Given the description of an element on the screen output the (x, y) to click on. 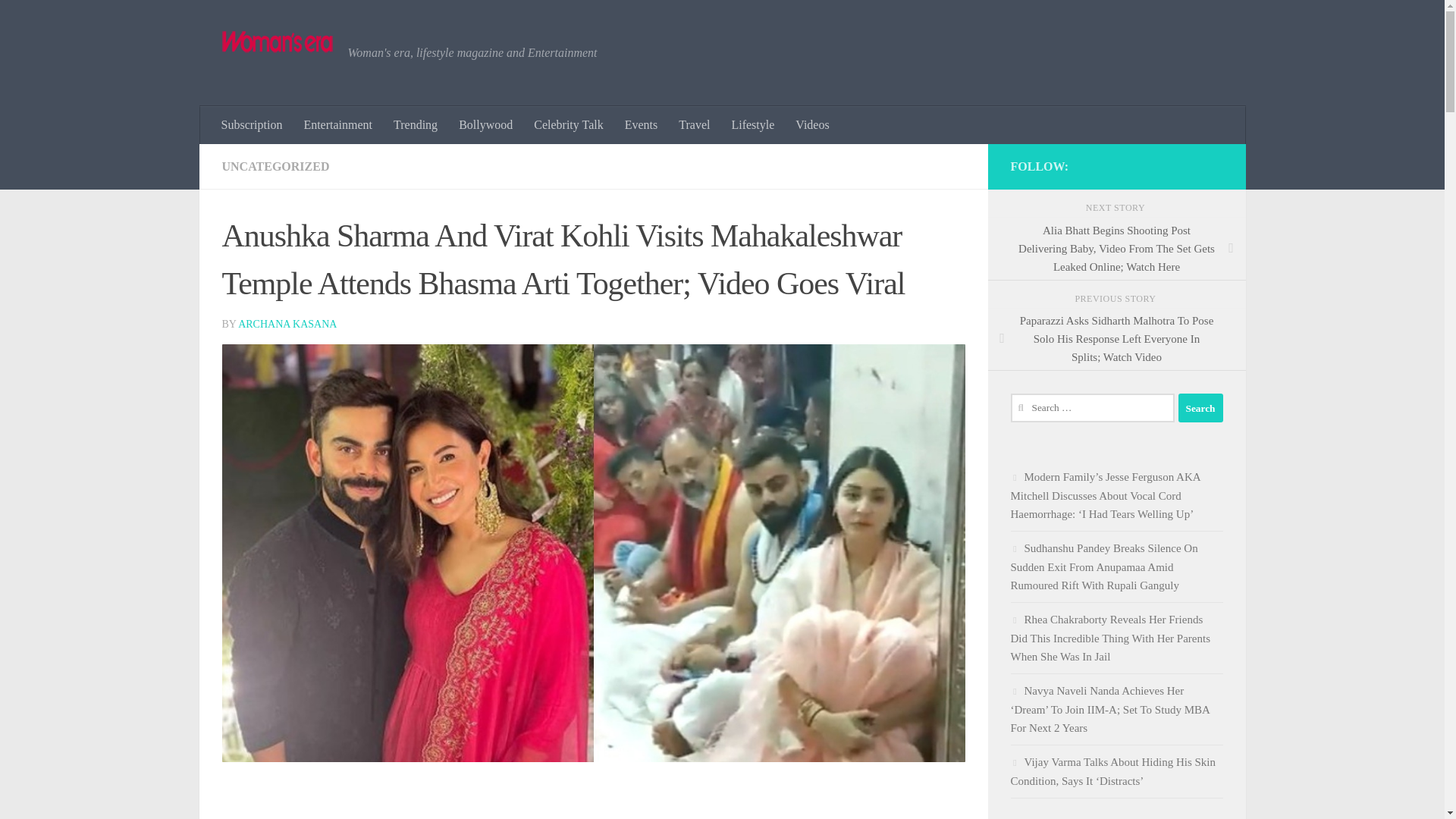
Celebrity Talk (567, 125)
Travel (694, 125)
Entertainment (337, 125)
Posts by Archana Kasana (287, 324)
ARCHANA KASANA (287, 324)
Trending (415, 125)
Subscription (252, 125)
Skip to content (59, 20)
Search (1200, 407)
Search (1200, 407)
